Given the description of an element on the screen output the (x, y) to click on. 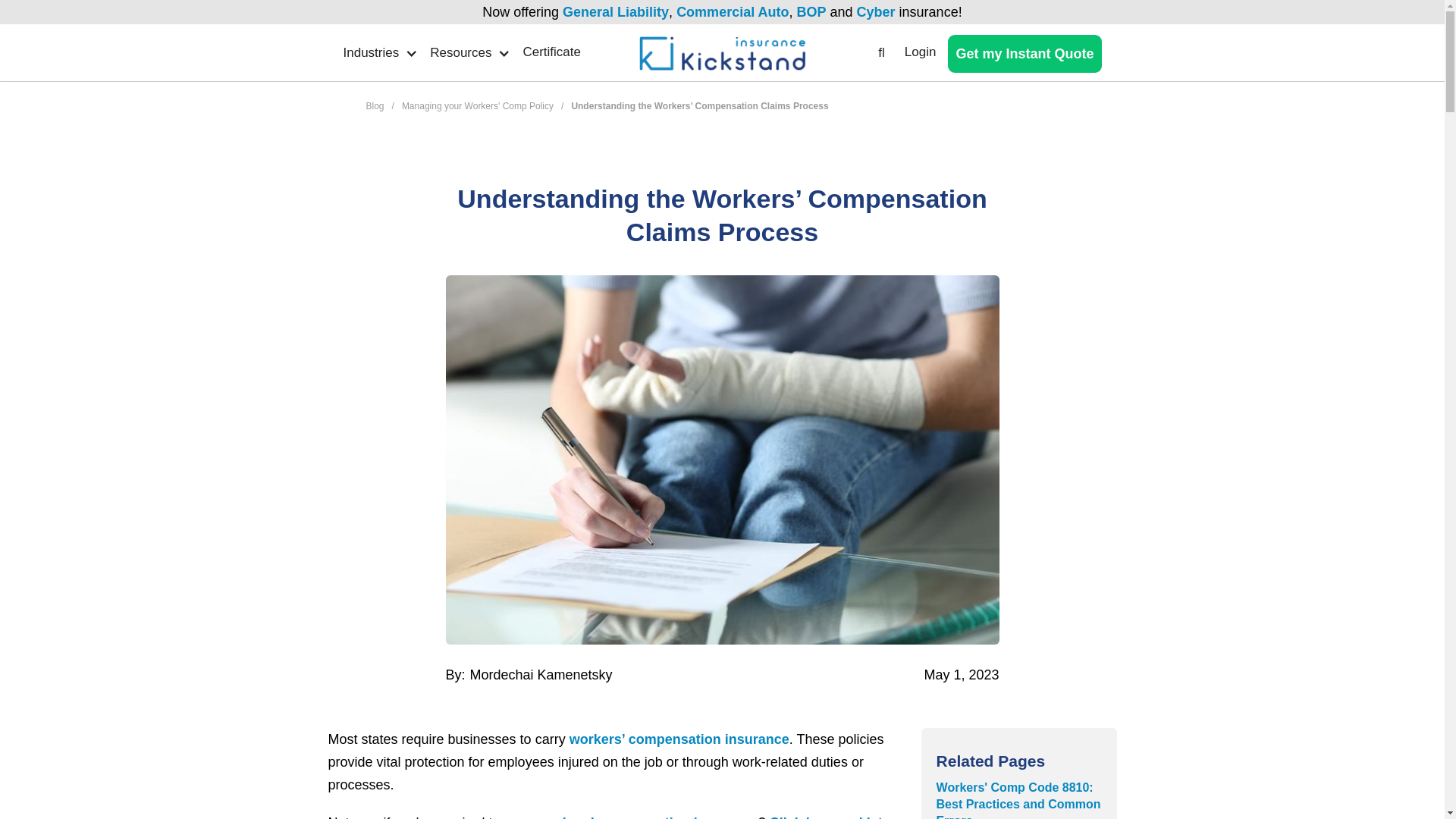
General Liability (615, 11)
Get my Instant Quote (1023, 53)
Commercial Auto (733, 11)
Blog (374, 105)
Certificate (557, 51)
BOP (810, 11)
Managing your Workers' Comp Policy (477, 105)
Cyber (876, 11)
